Given the description of an element on the screen output the (x, y) to click on. 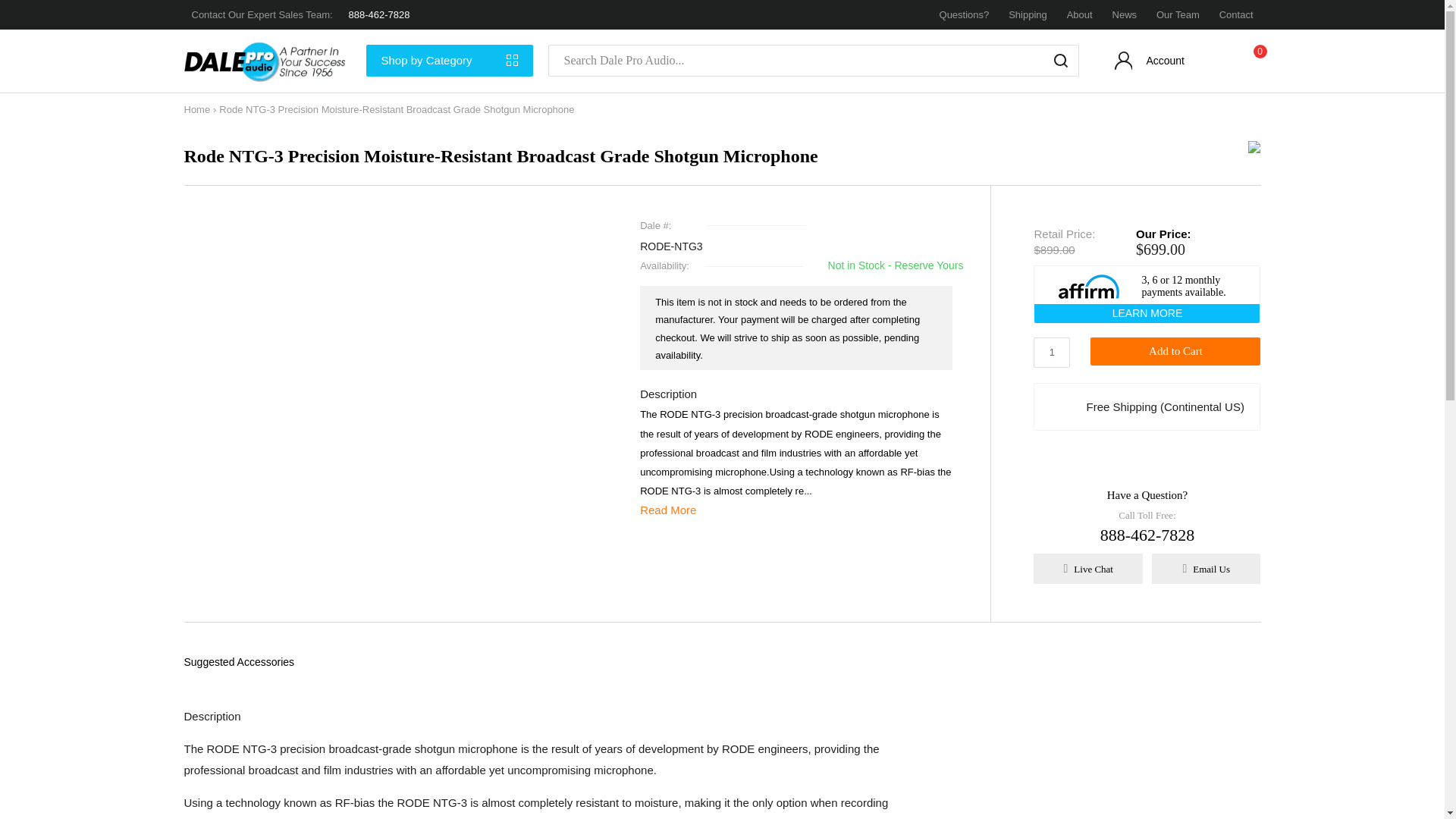
About (1080, 14)
Our Team (1177, 14)
1 (1051, 352)
Home (196, 109)
Account  (1151, 63)
888-462-7828 (379, 14)
Shipping (1027, 14)
Contact (1236, 14)
Shop by Category (448, 60)
Account (1151, 63)
Questions? (964, 14)
Dale Pro Audio (266, 61)
News (1124, 14)
